Given the description of an element on the screen output the (x, y) to click on. 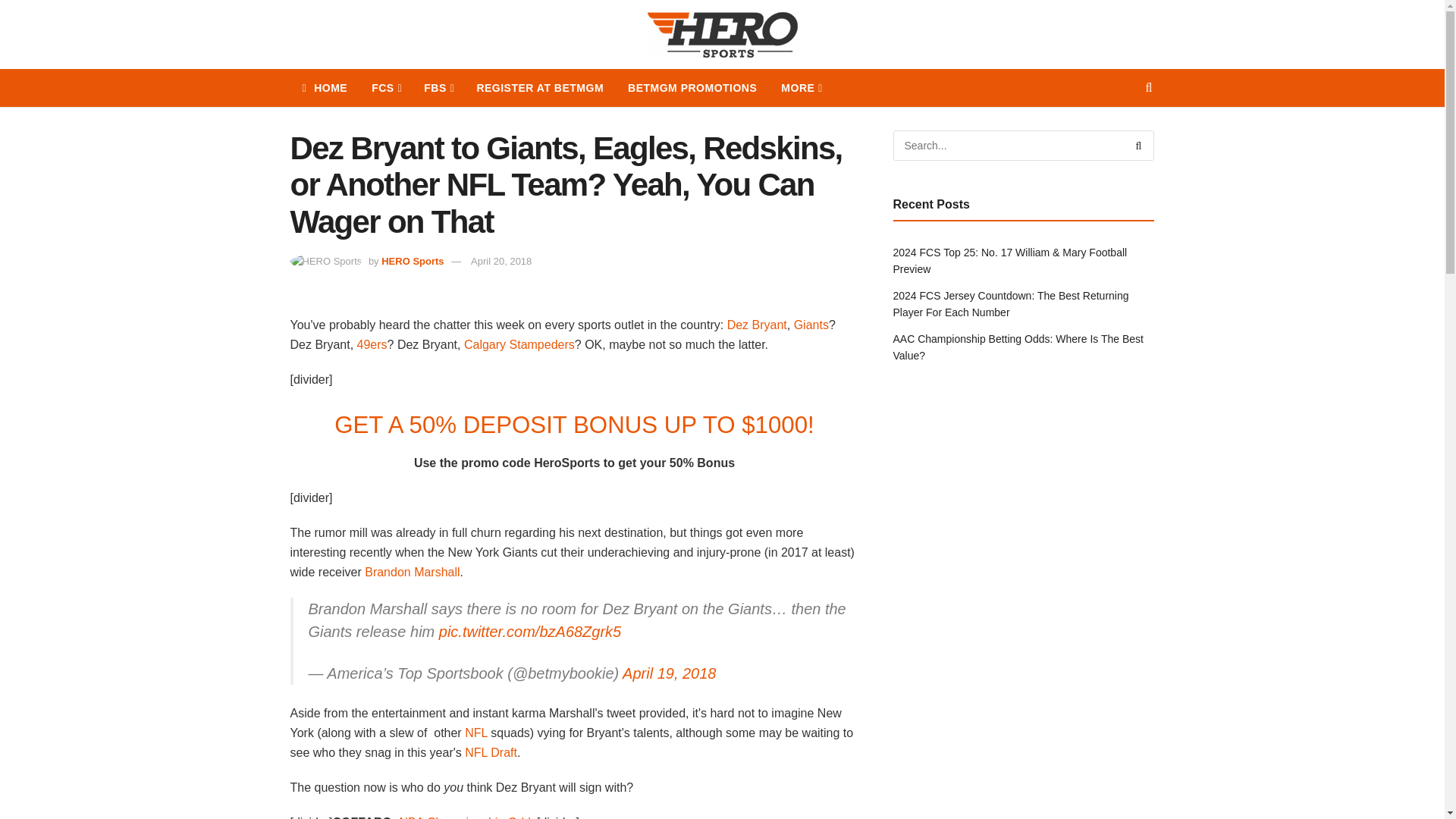
MORE (800, 87)
HOME (324, 87)
FBS (438, 87)
REGISTER AT BETMGM (539, 87)
BETMGM PROMOTIONS (691, 87)
FCS (385, 87)
